Given the description of an element on the screen output the (x, y) to click on. 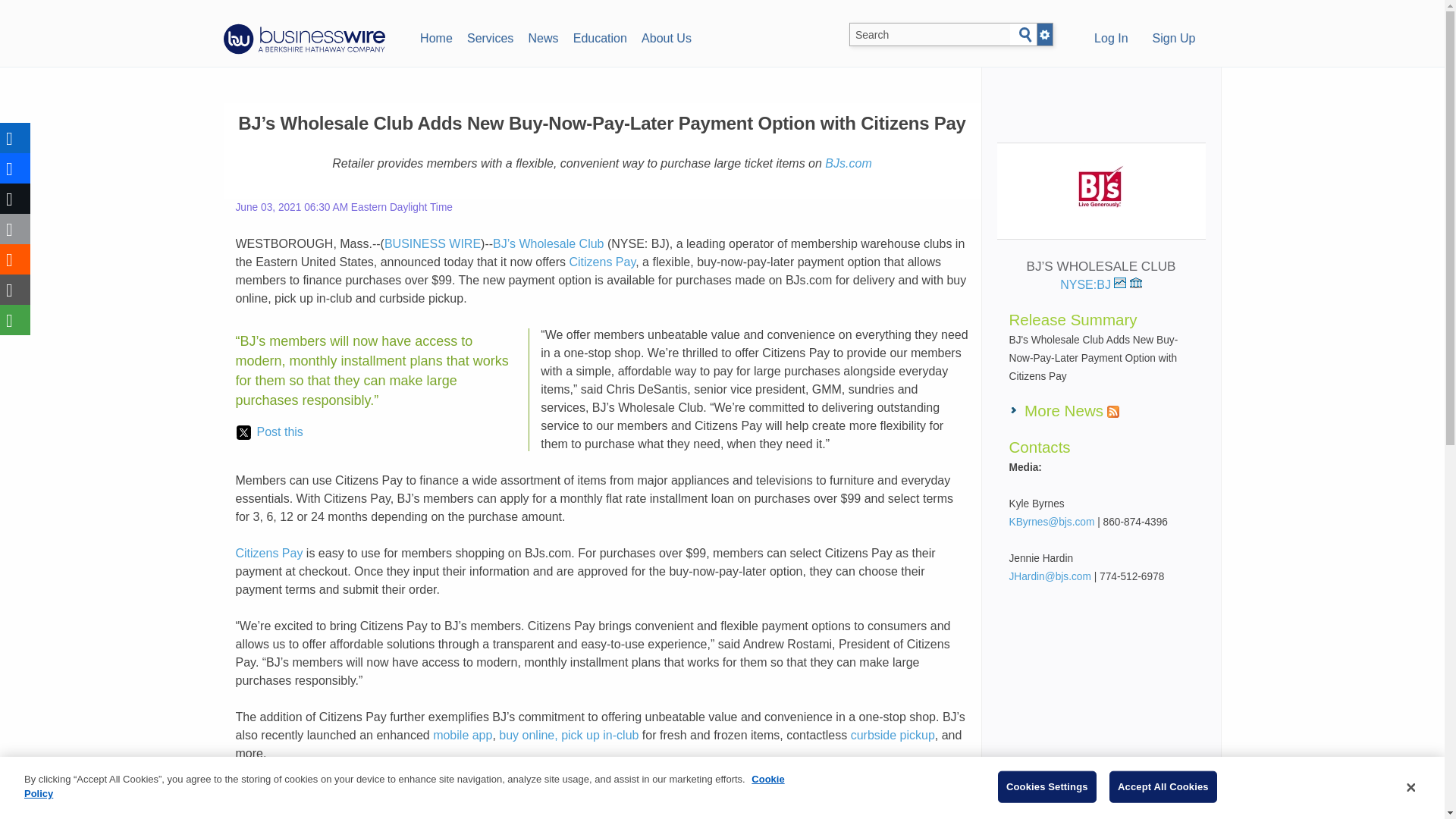
BJs.com (847, 163)
Services (490, 36)
Search (1025, 34)
Reddit (15, 259)
Citizens Pay (601, 261)
Post this (269, 431)
buy online, pick up in-club (569, 735)
News (543, 36)
mobile app (462, 735)
Copy Link (15, 289)
curbside pickup (892, 735)
Home (436, 36)
View stock quote and chart (1119, 282)
RSS feed for BJ's Wholesale Club, Inc. (1112, 411)
View SEC Filings (1135, 282)
